Given the description of an element on the screen output the (x, y) to click on. 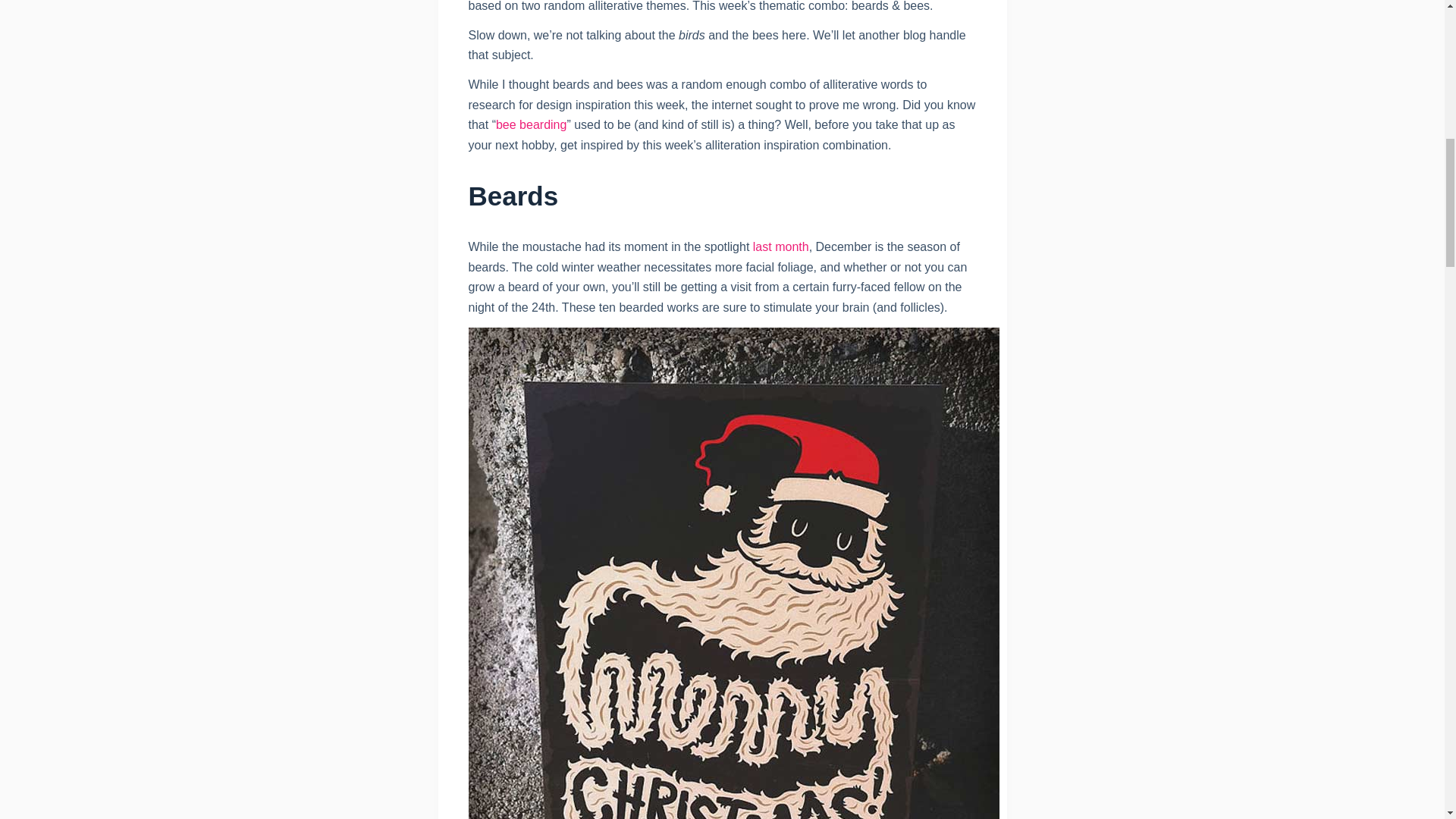
Bee Bearding (531, 124)
Movember (780, 246)
last month (780, 246)
bee bearding (531, 124)
